Given the description of an element on the screen output the (x, y) to click on. 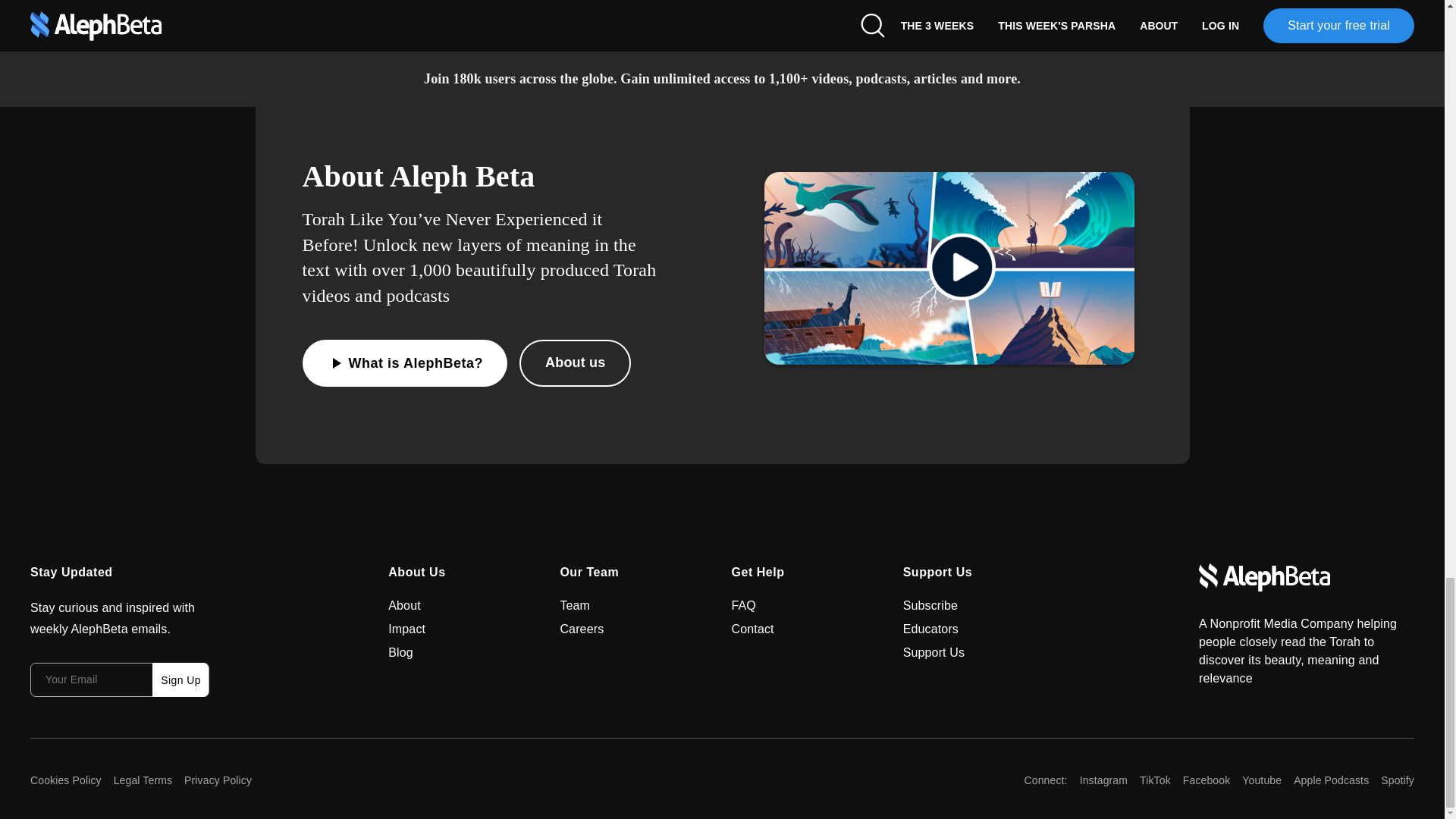
What is AlephBeta? (403, 362)
Sign Up (180, 679)
About us (574, 362)
